Given the description of an element on the screen output the (x, y) to click on. 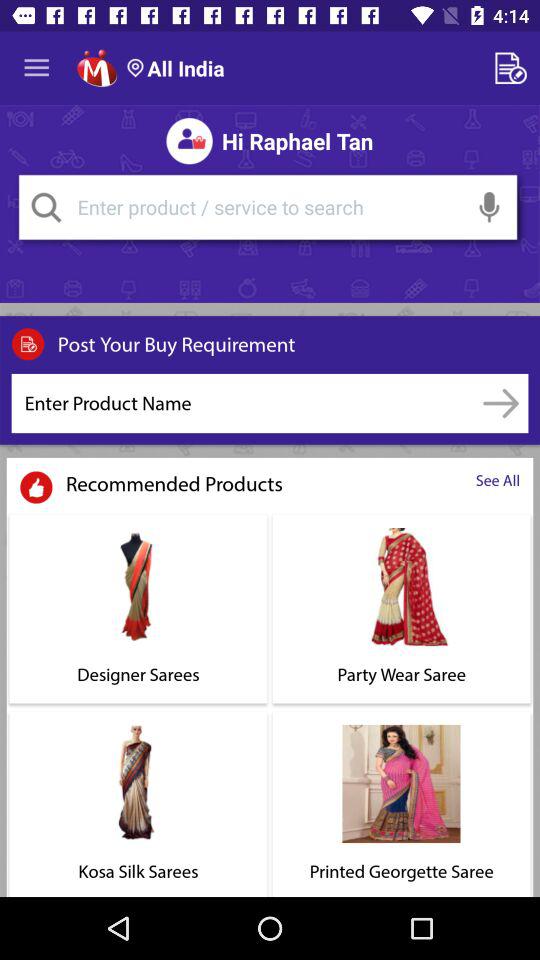
speak microphone (489, 207)
